Given the description of an element on the screen output the (x, y) to click on. 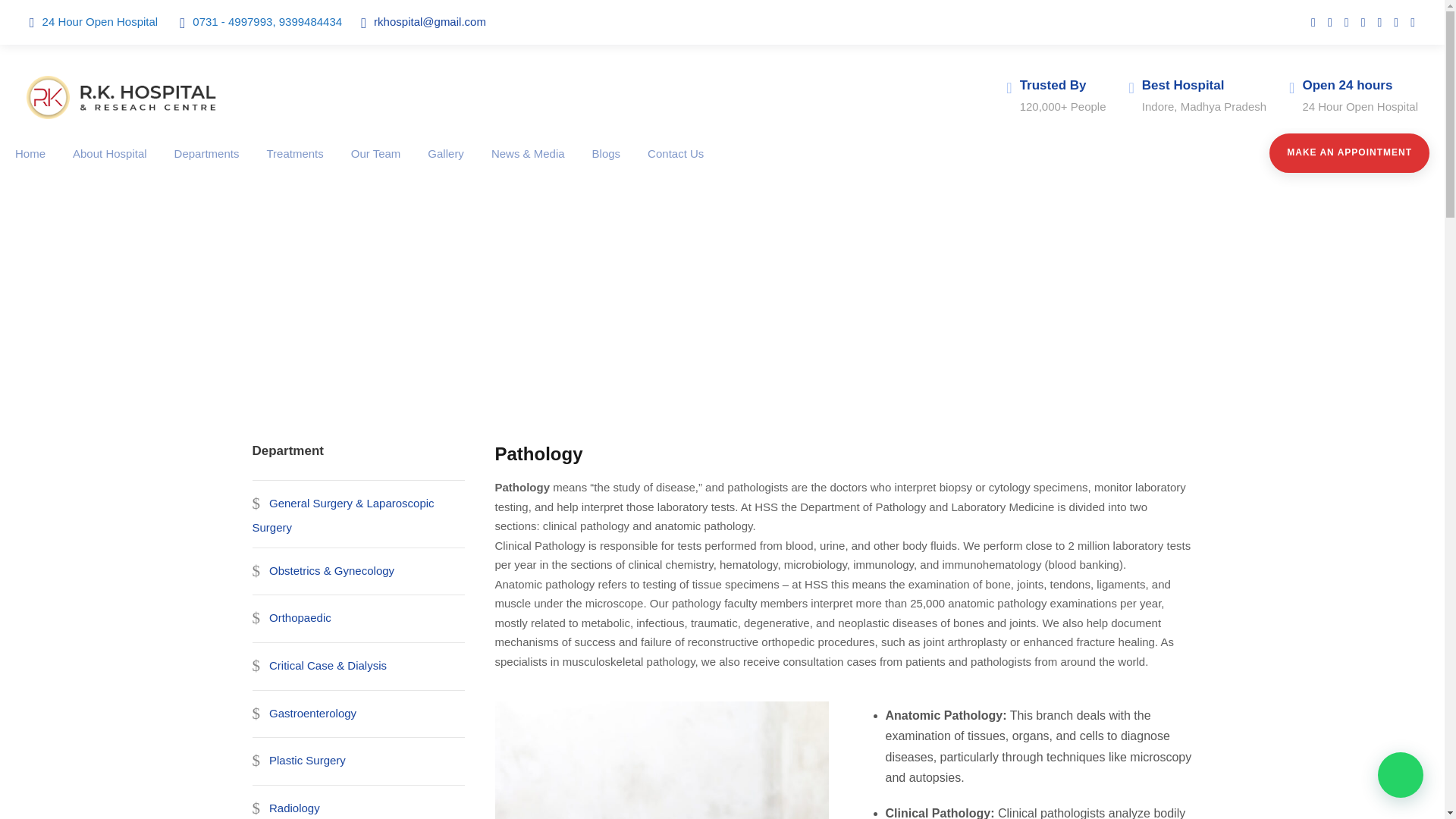
Treatments (294, 166)
Radiology (284, 802)
Orthopaedic (290, 618)
Plastic Surgery (298, 760)
Our Team (375, 166)
Gastroenterology (303, 714)
MAKE AN APPOINTMENT (1349, 152)
Departments (207, 166)
Contact Us (675, 166)
About Hospital (109, 166)
